Given the description of an element on the screen output the (x, y) to click on. 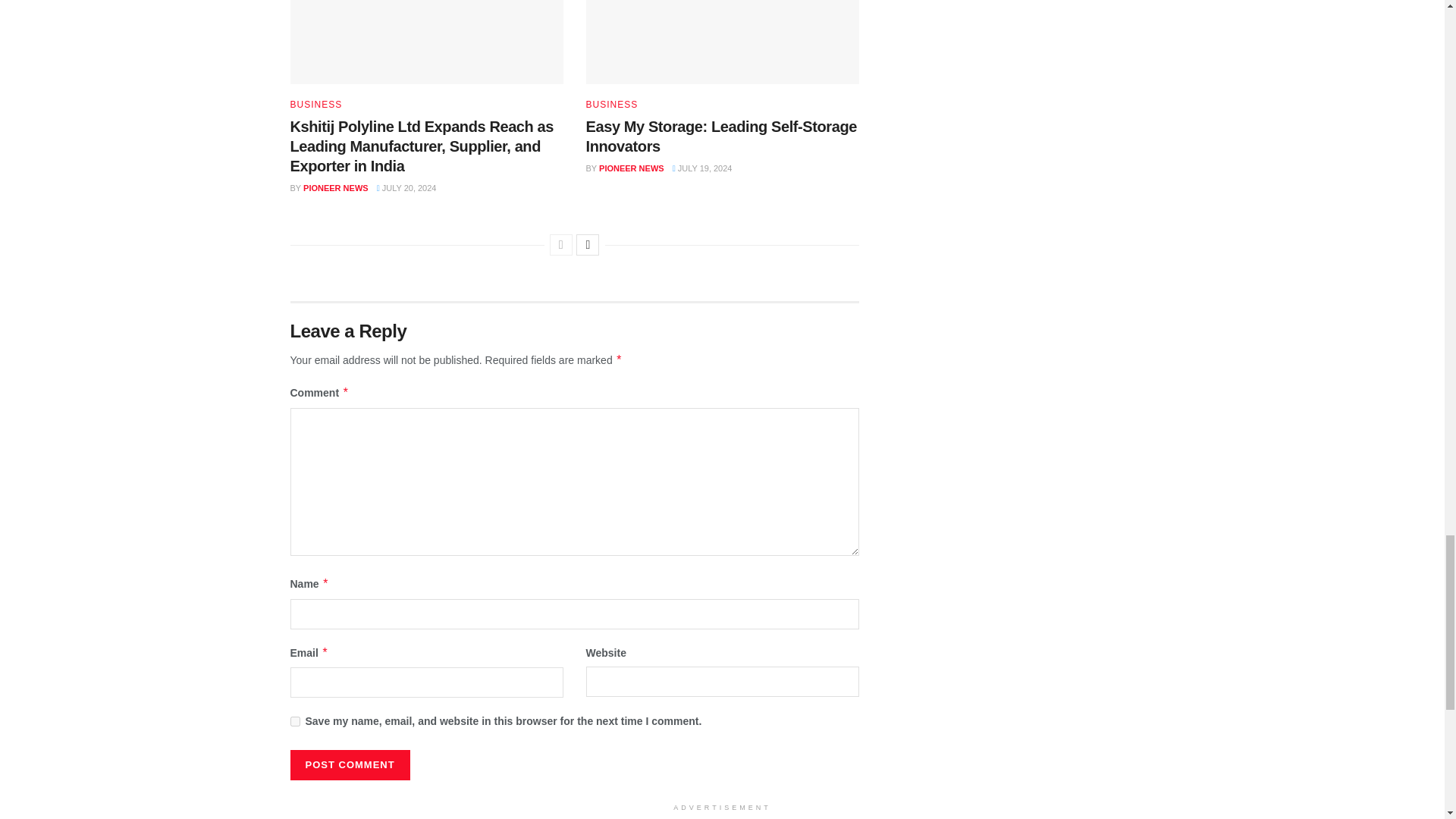
yes (294, 721)
Post Comment (349, 765)
Previous (561, 244)
Next (587, 244)
